Given the description of an element on the screen output the (x, y) to click on. 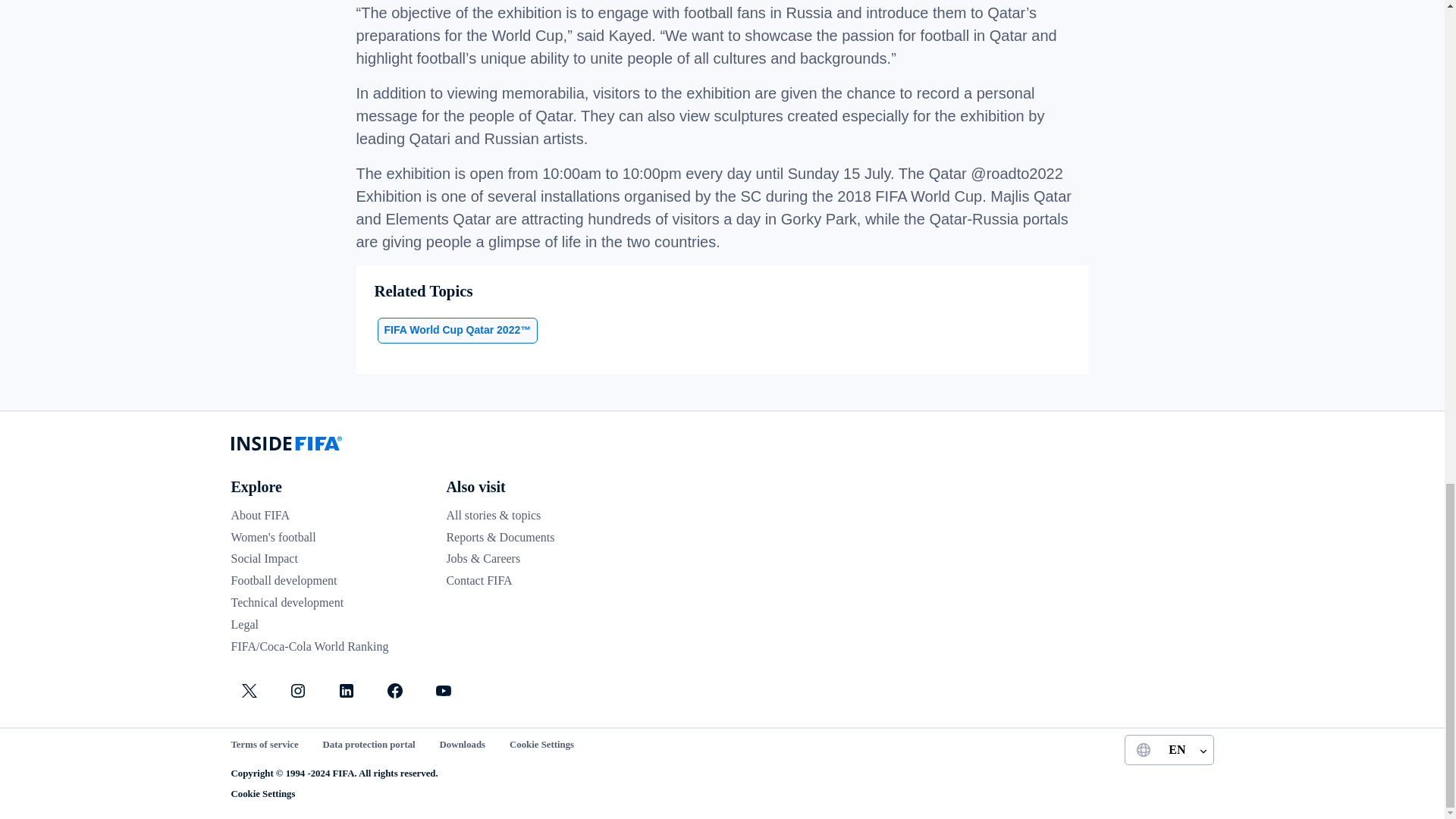
Downloads (461, 744)
About FIFA (259, 514)
Cookie Settings (541, 745)
Terms of service (264, 744)
Legal (243, 624)
EN (1168, 749)
Data protection portal (368, 744)
Women's football (272, 536)
Social Impact (263, 558)
Contact FIFA (478, 580)
